Given the description of an element on the screen output the (x, y) to click on. 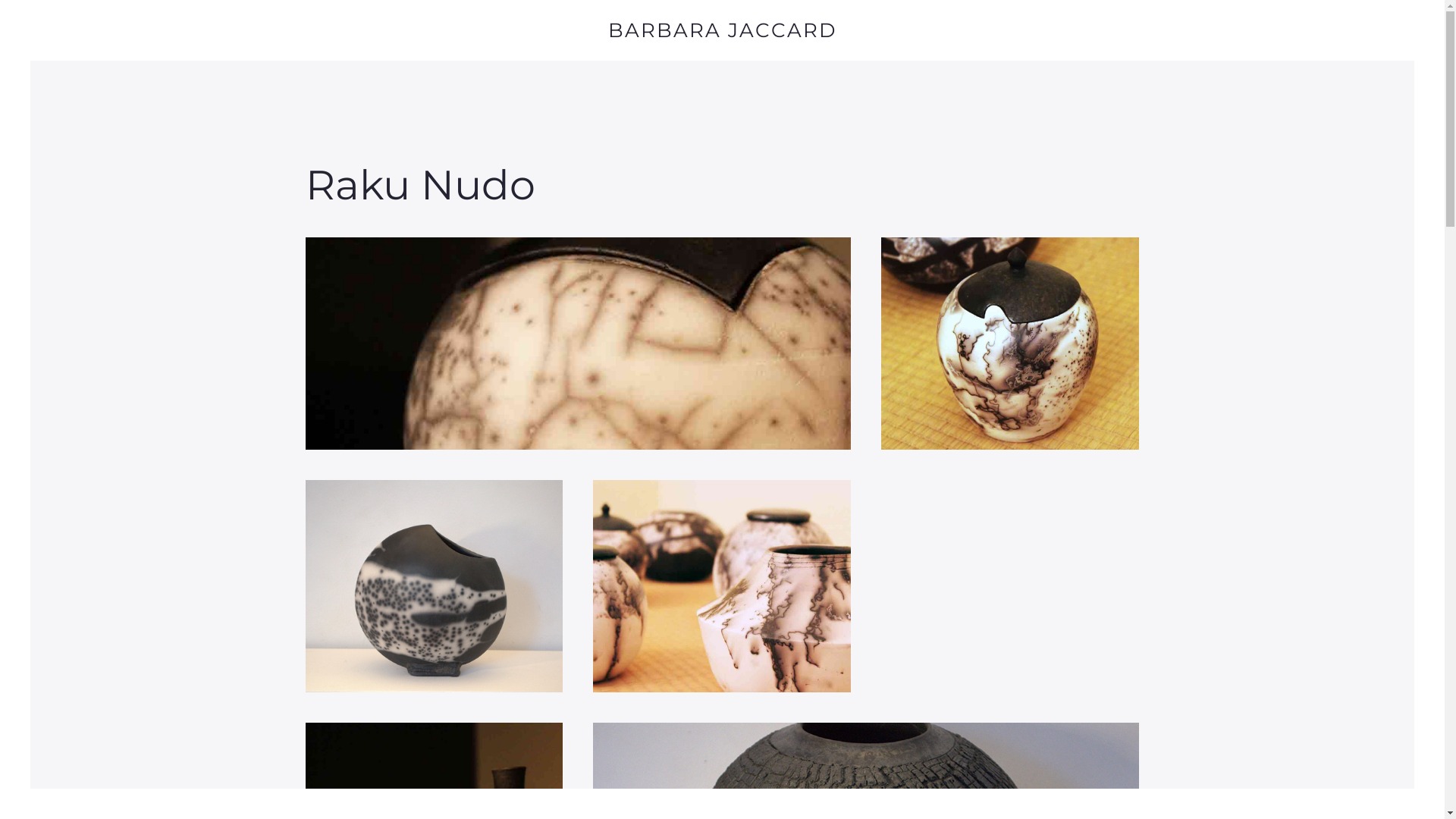
BARBARA JACCARD Element type: text (721, 29)
